Given the description of an element on the screen output the (x, y) to click on. 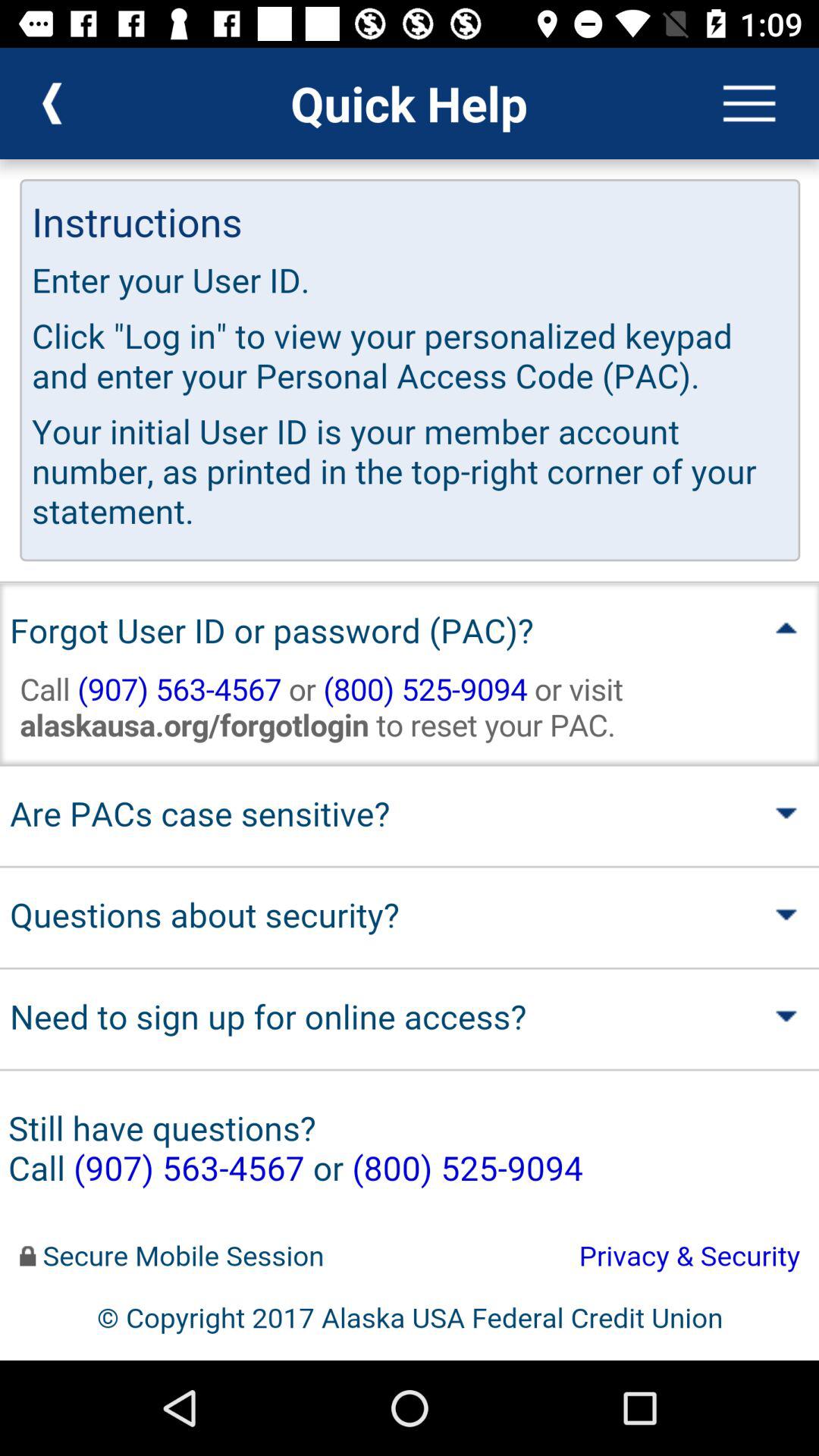
description (409, 759)
